Given the description of an element on the screen output the (x, y) to click on. 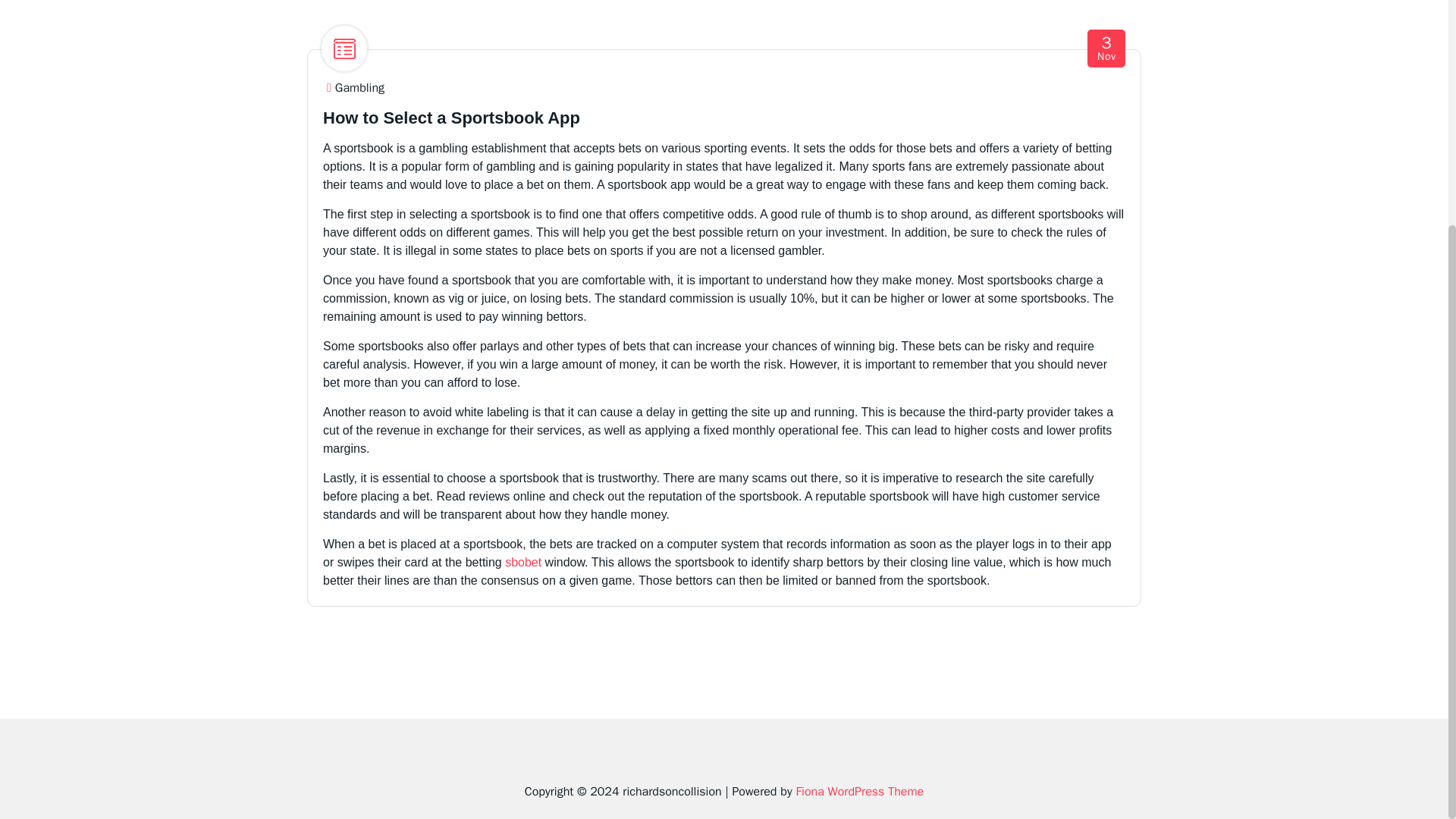
sbobet (1107, 49)
Gambling (523, 562)
Fiona WordPress Theme (359, 88)
